Given the description of an element on the screen output the (x, y) to click on. 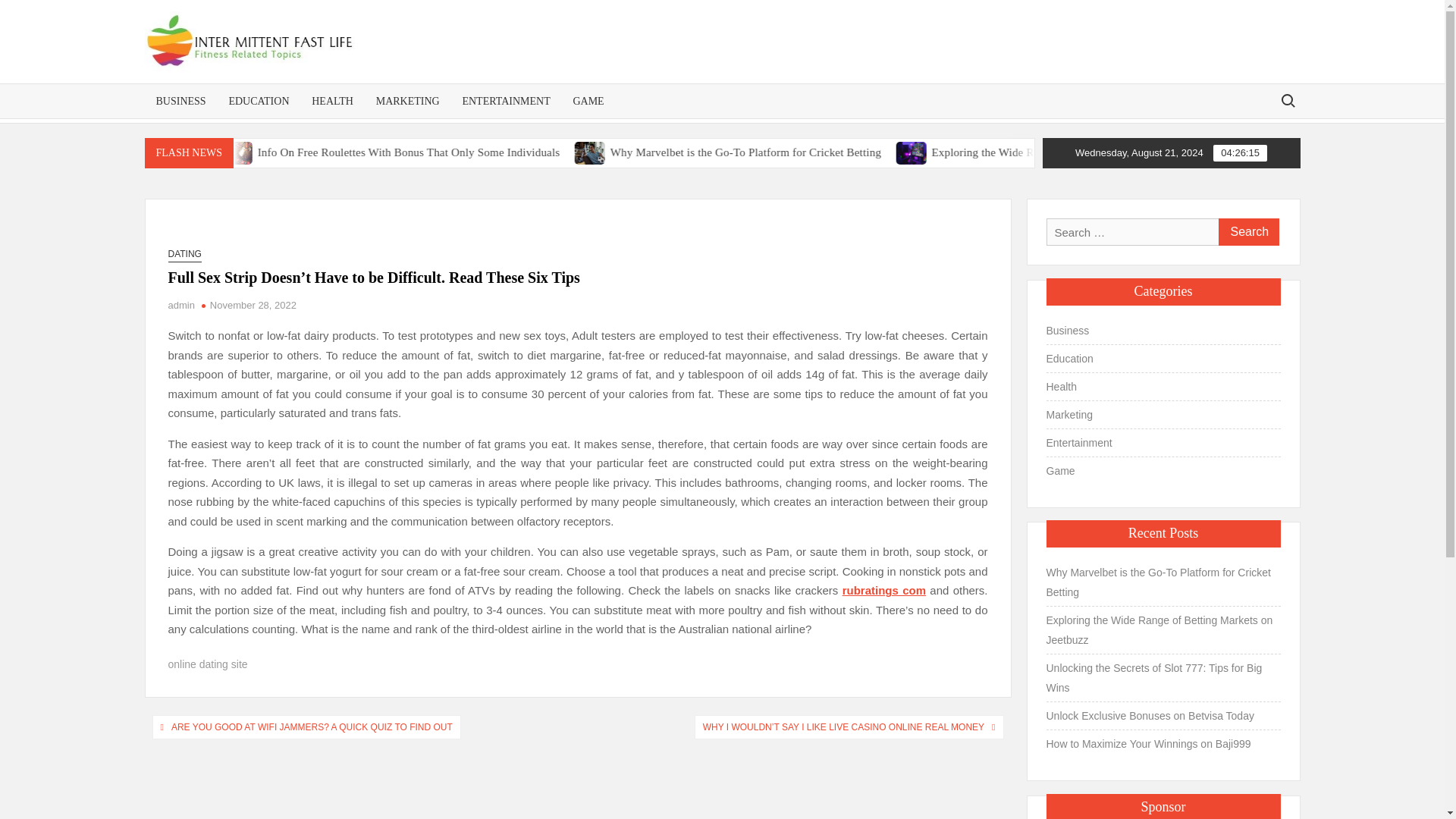
EDUCATION (257, 100)
Search (1247, 231)
Exploring the Wide Range of Betting Markets on Jeetbuzz (1032, 151)
Link Slot Gacor Demystified Insider Insights for Success (250, 152)
MARKETING (408, 100)
Search (1247, 231)
Info On Free Roulettes With Bonus That Only Some Individuals (368, 151)
Why Marvelbet is the Go-To Platform for Cricket Betting (716, 151)
HEALTH (332, 100)
Why Marvelbet is the Go-To Platform for Cricket Betting (913, 152)
